Given the description of an element on the screen output the (x, y) to click on. 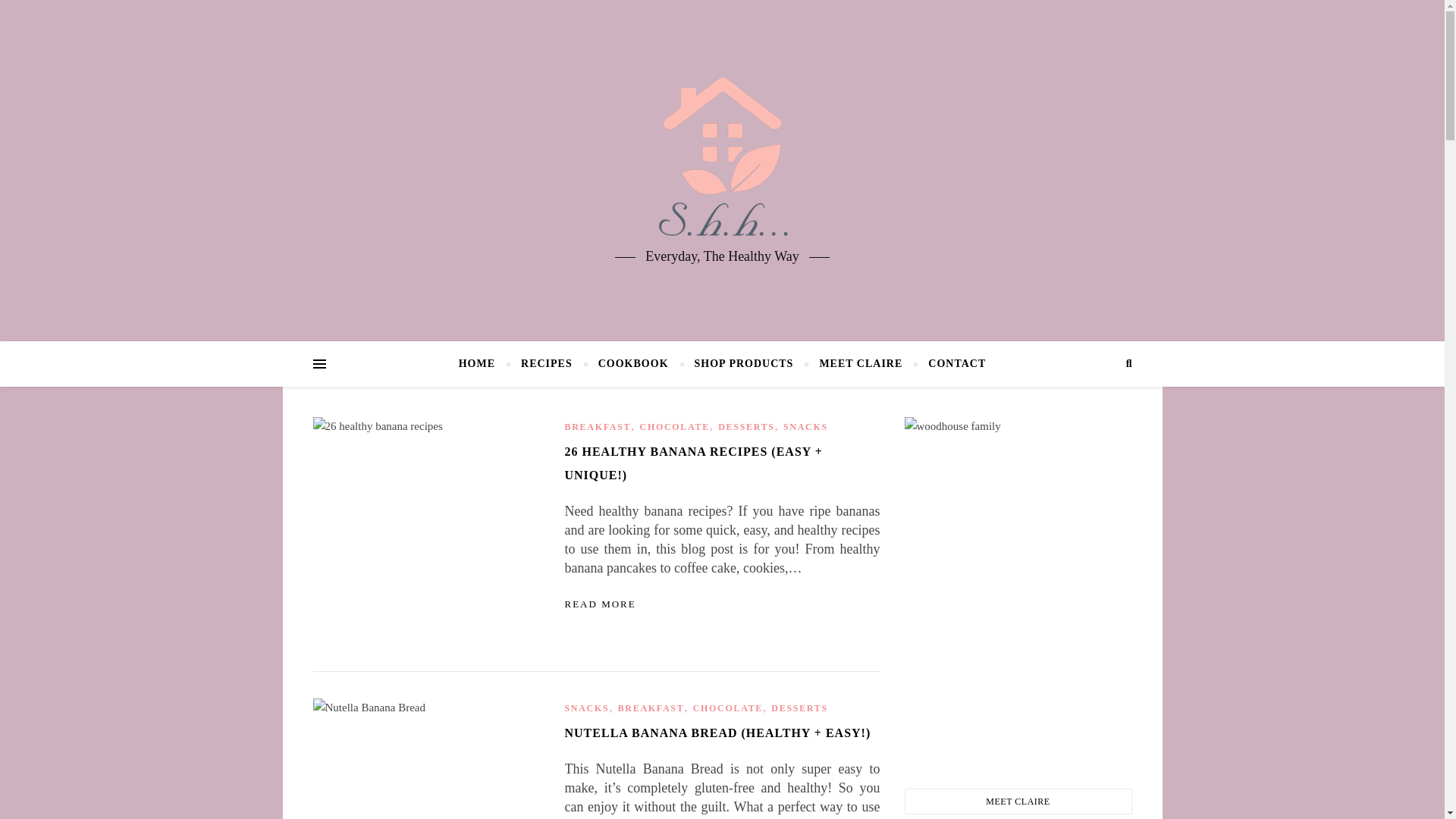
RECIPES (546, 363)
HOME (483, 363)
BREAKFAST (597, 426)
READ MORE (599, 603)
CONTACT (950, 363)
SNACKS (805, 426)
CHOCOLATE (675, 426)
COOKBOOK (633, 363)
MEET CLAIRE (860, 363)
Secretly Healthy Home (722, 156)
